Given the description of an element on the screen output the (x, y) to click on. 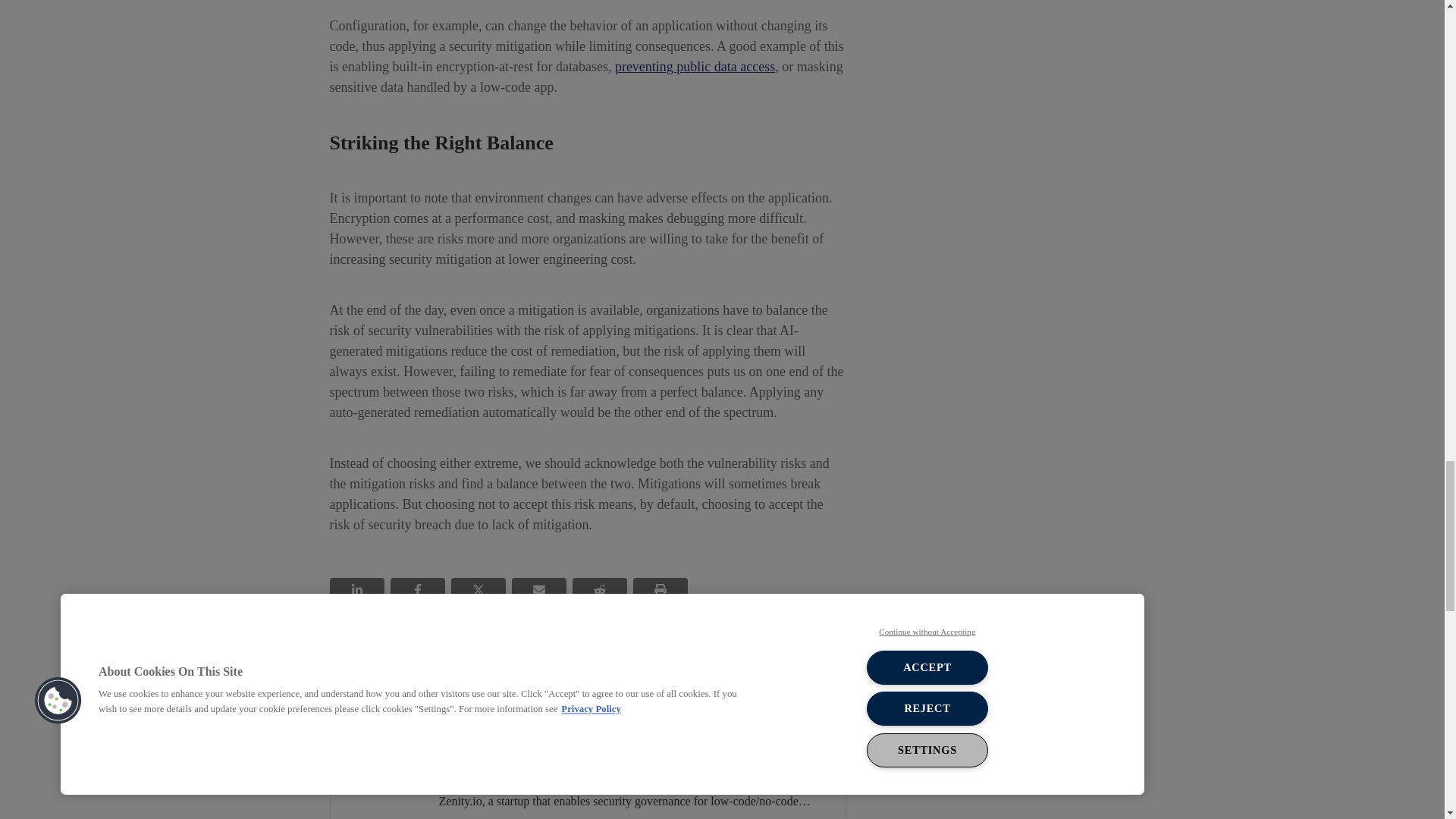
Michael Bargury (384, 741)
